Given the description of an element on the screen output the (x, y) to click on. 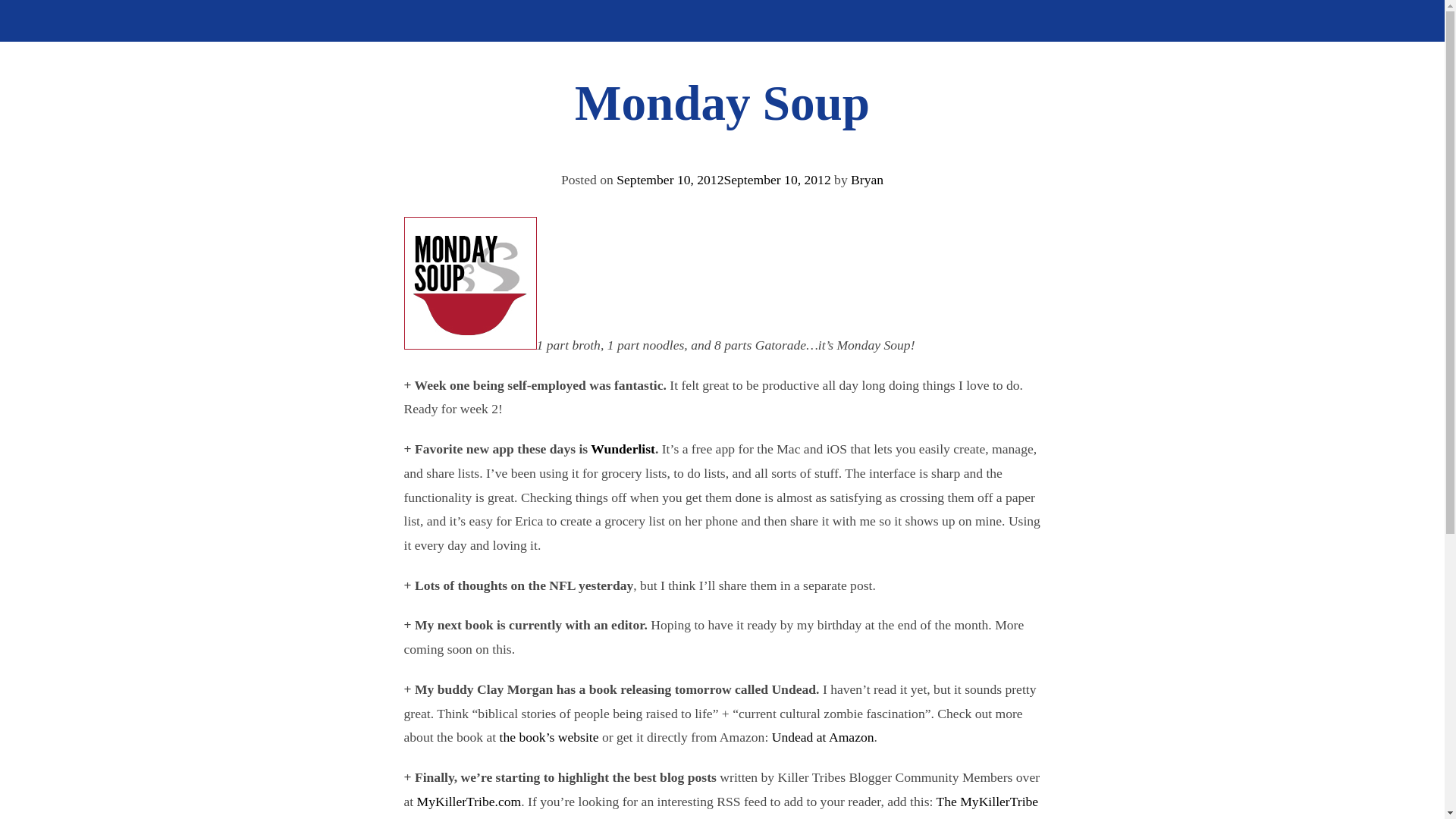
The MyKillerTribe Blog (720, 806)
Bryan (866, 179)
mondaysoup (469, 283)
Undead at Amazon (823, 736)
MyKillerTribe.com (468, 801)
Wunderlist (623, 448)
September 10, 2012September 10, 2012 (722, 179)
